Given the description of an element on the screen output the (x, y) to click on. 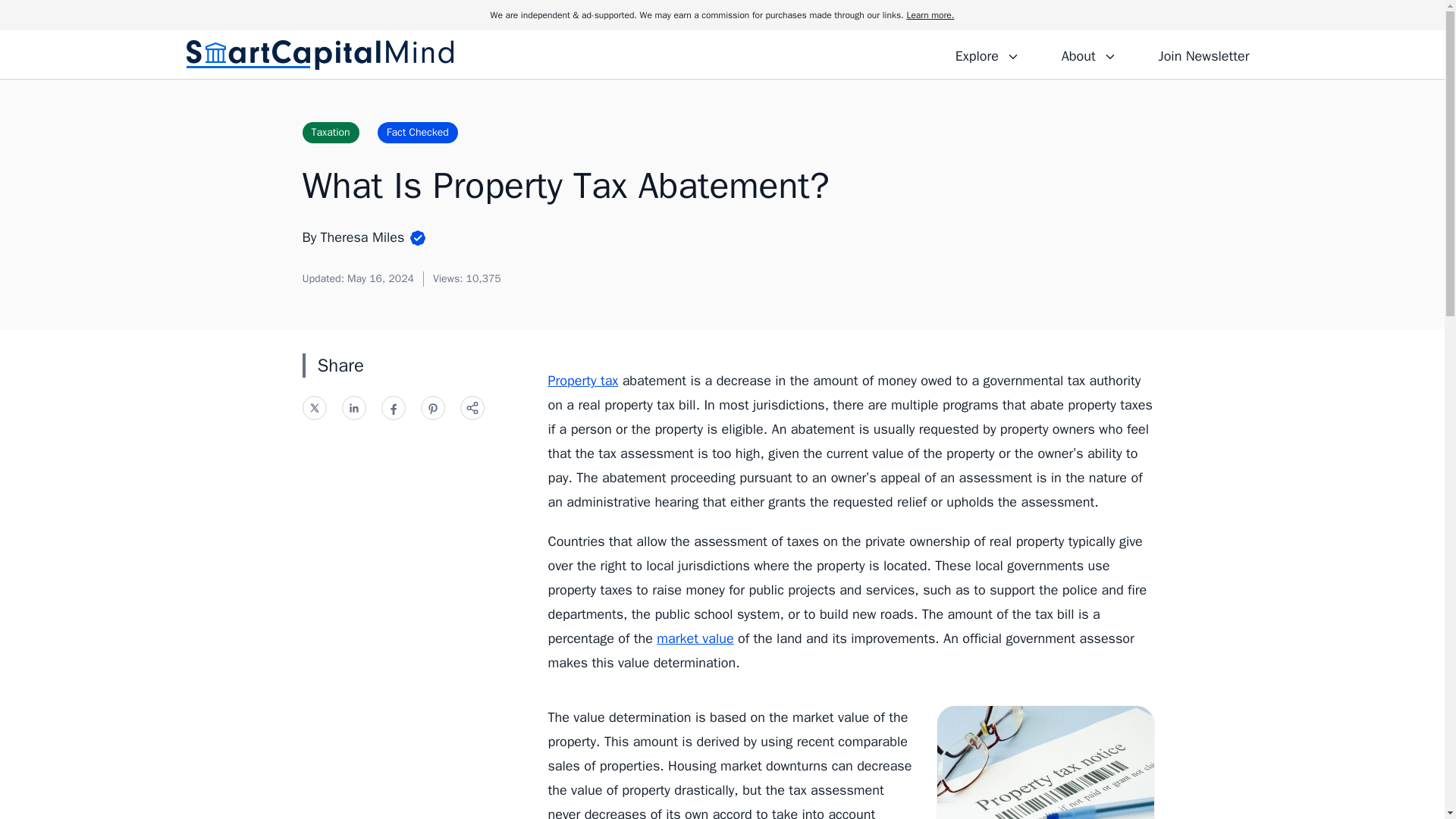
Explore (986, 54)
About (1088, 54)
Join Newsletter (1202, 54)
Learn more. (929, 15)
Fact Checked (417, 132)
Property tax (582, 380)
Taxation (329, 132)
market value (694, 638)
